Given the description of an element on the screen output the (x, y) to click on. 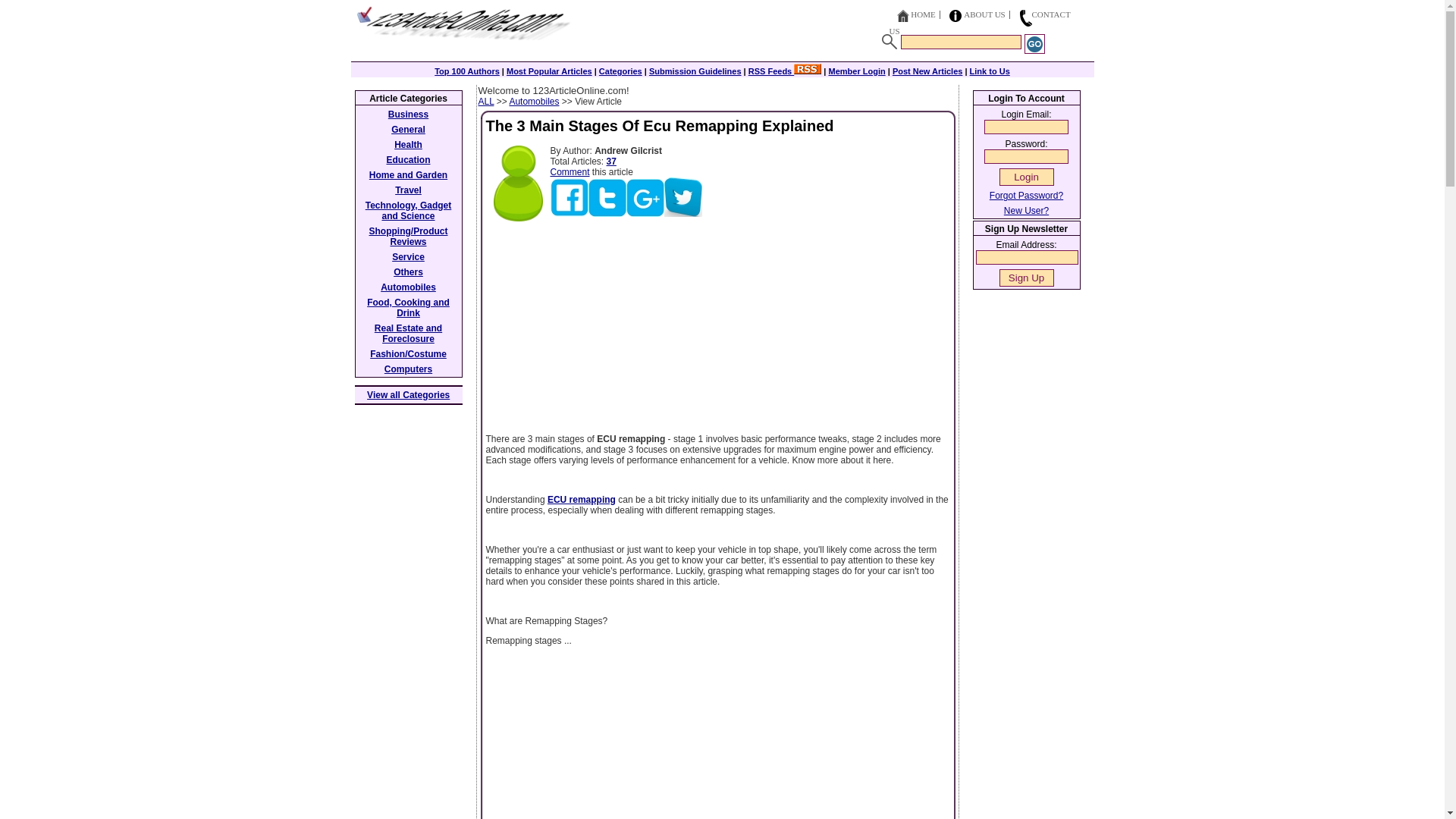
37 (611, 161)
Categories (620, 71)
ALL (485, 101)
ECU remapping (581, 499)
Submission Guidelines (695, 71)
Top 100 Authors (466, 71)
Automobiles (533, 101)
Most Popular Articles (549, 71)
Comment (569, 172)
